Given the description of an element on the screen output the (x, y) to click on. 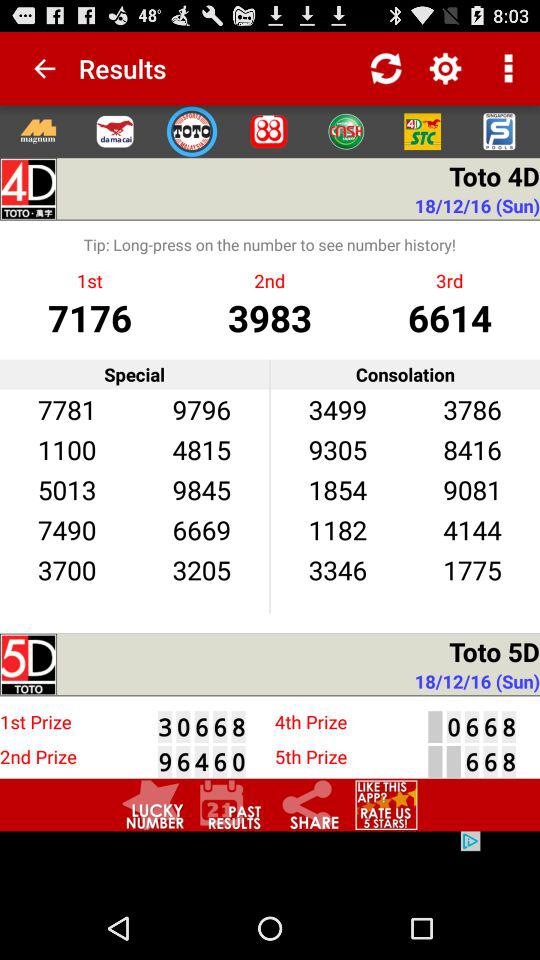
refresh this page (386, 68)
